Given the description of an element on the screen output the (x, y) to click on. 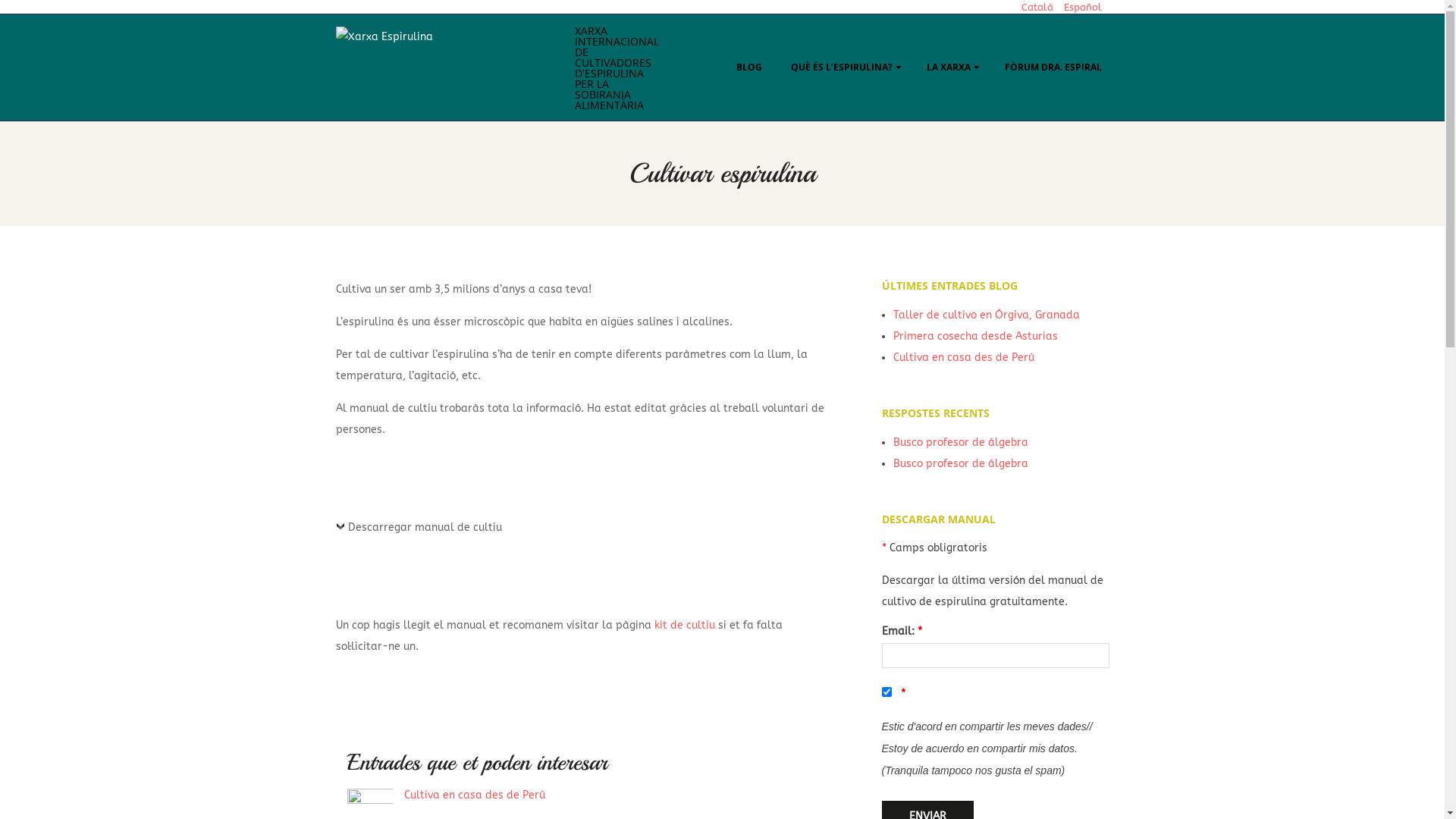
BLOG Element type: text (748, 67)
kit de cultiu Element type: text (683, 624)
Primera cosecha desde Asturias Element type: text (975, 335)
LA XARXA Element type: text (951, 67)
